Given the description of an element on the screen output the (x, y) to click on. 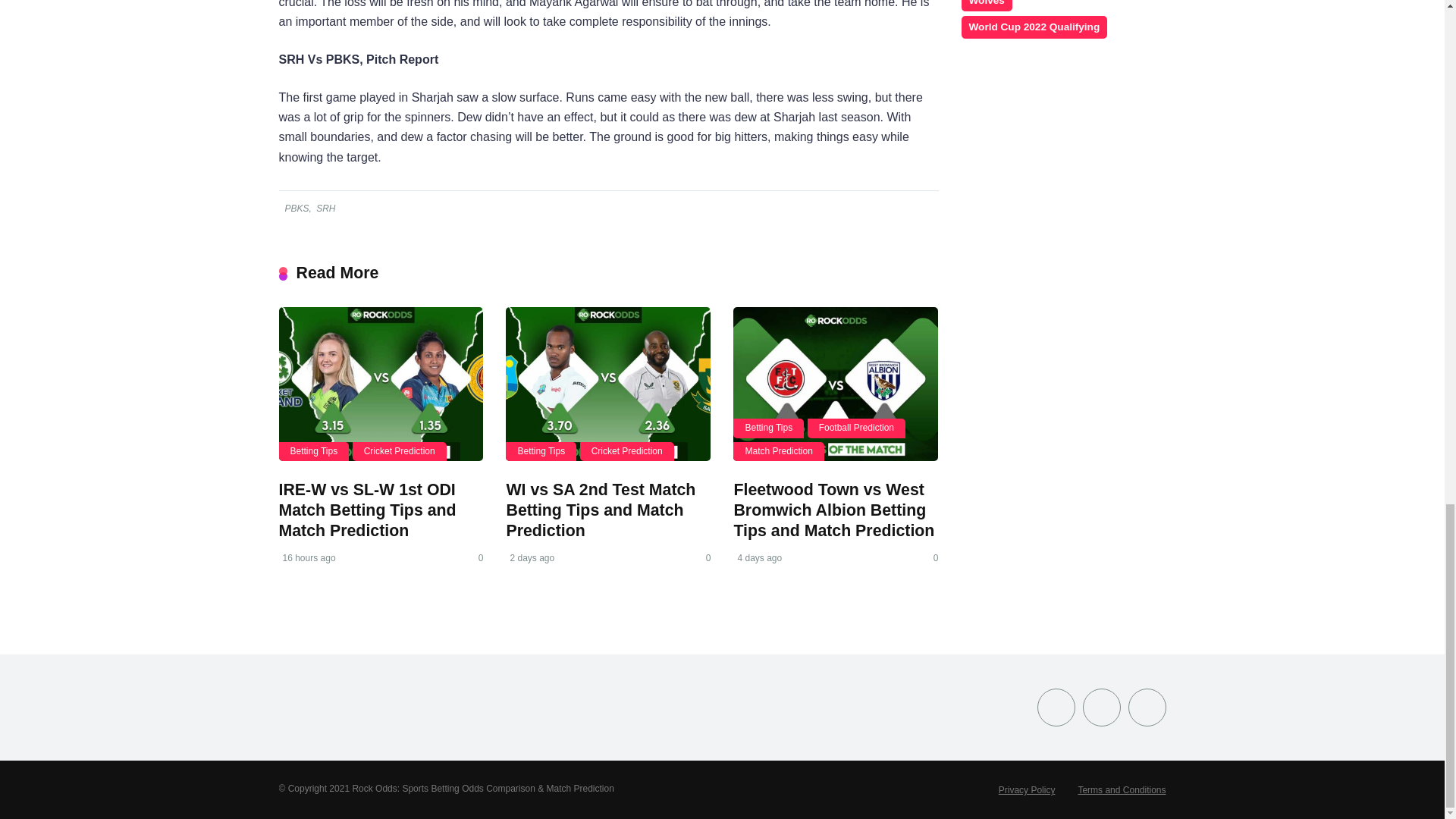
WI vs SA 2nd Test Match Betting Tips and Match Prediction (607, 384)
Betting Tips (540, 451)
Betting Tips (768, 427)
Cricket Prediction (399, 451)
WI vs SA 2nd Test Match Betting Tips and Match Prediction (600, 509)
Twitter (1102, 707)
SRH (324, 208)
Facebook (1055, 707)
